Given the description of an element on the screen output the (x, y) to click on. 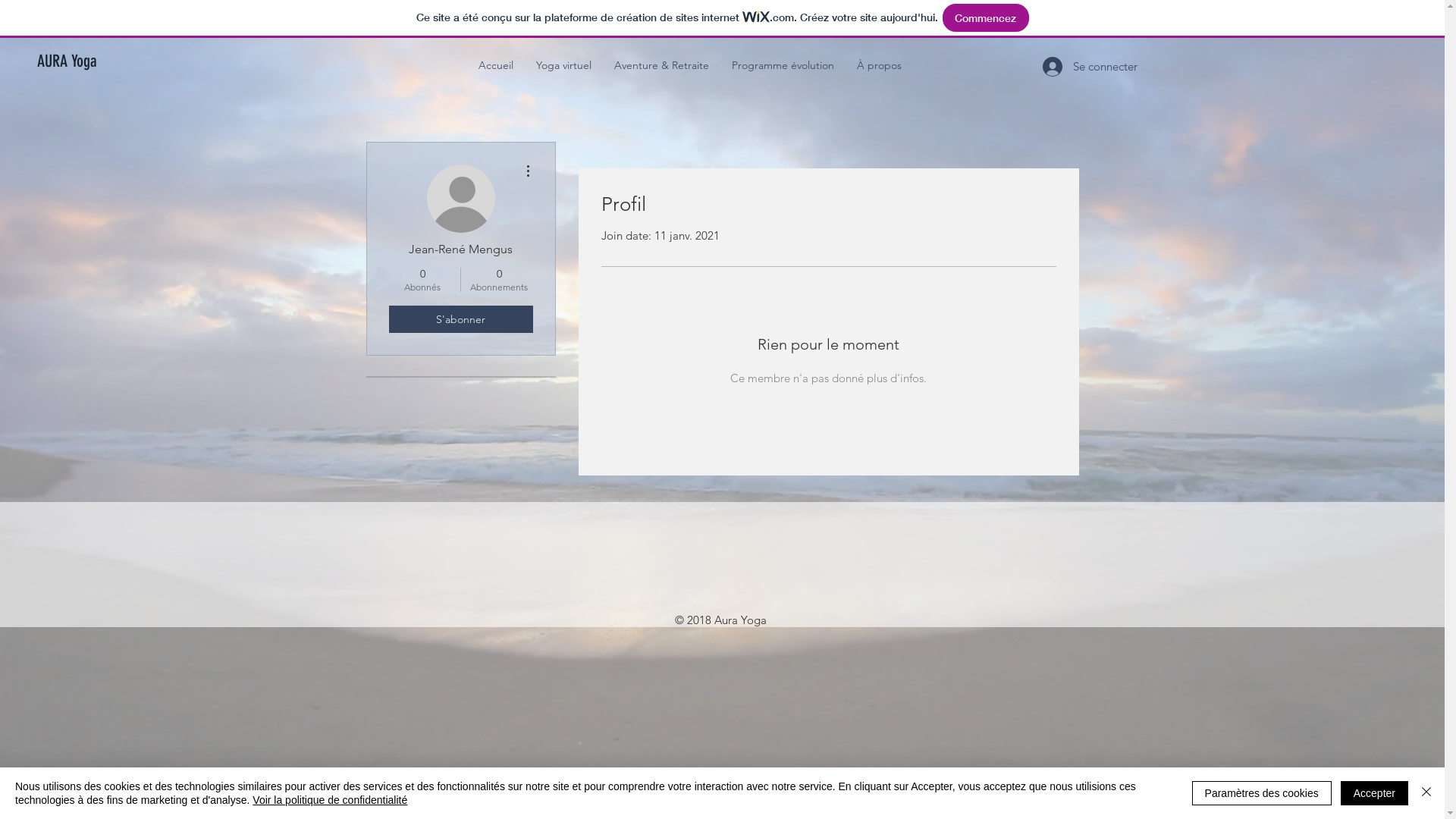
Aventure & Retraite Element type: text (660, 65)
S'abonner Element type: text (460, 318)
Accepter Element type: text (1374, 793)
Se connecter Element type: text (1062, 65)
0
Abonnements Element type: text (499, 279)
AURA Yoga Element type: text (88, 61)
Accueil Element type: text (495, 65)
